Given the description of an element on the screen output the (x, y) to click on. 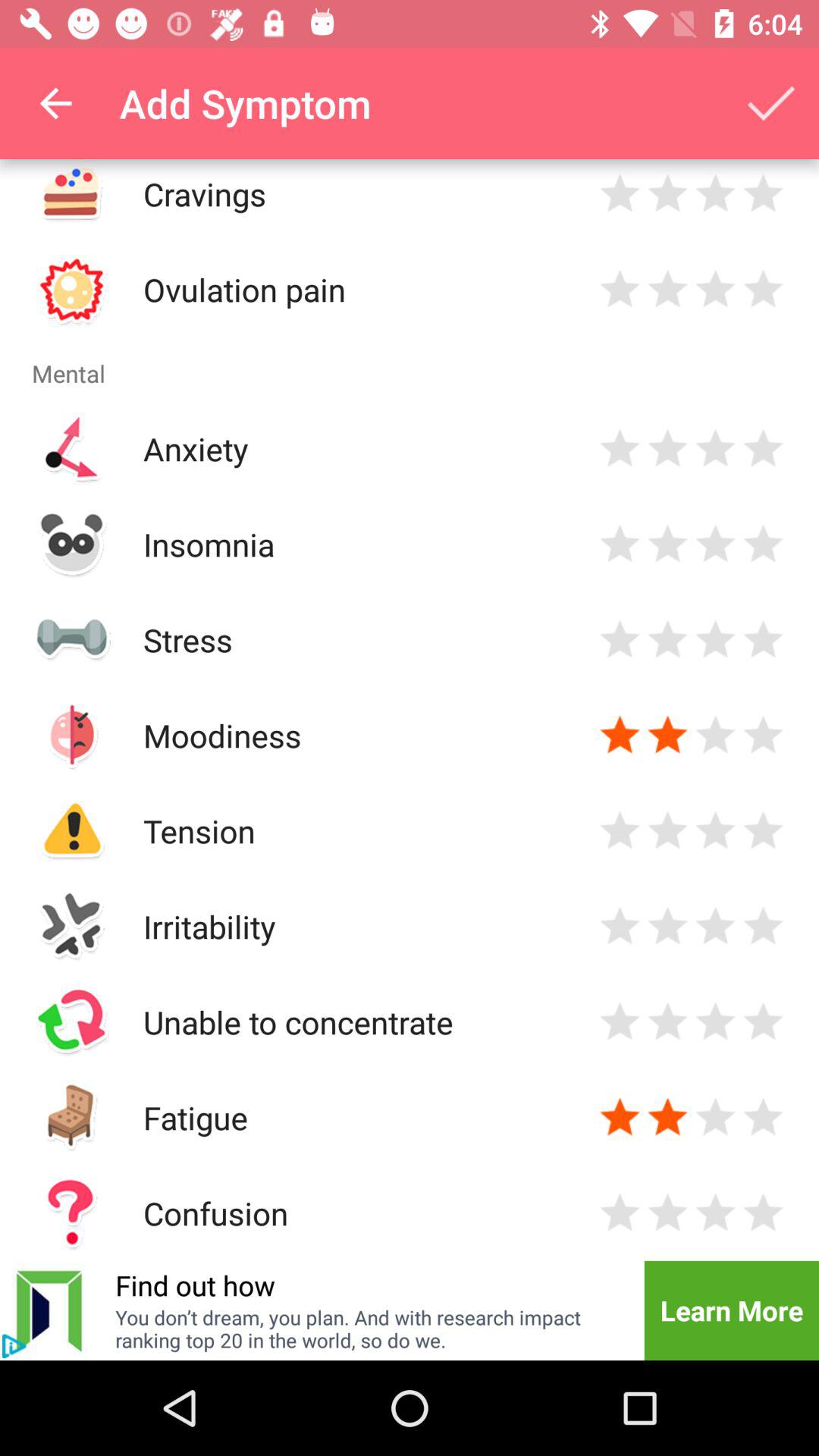
star rating (763, 448)
